Given the description of an element on the screen output the (x, y) to click on. 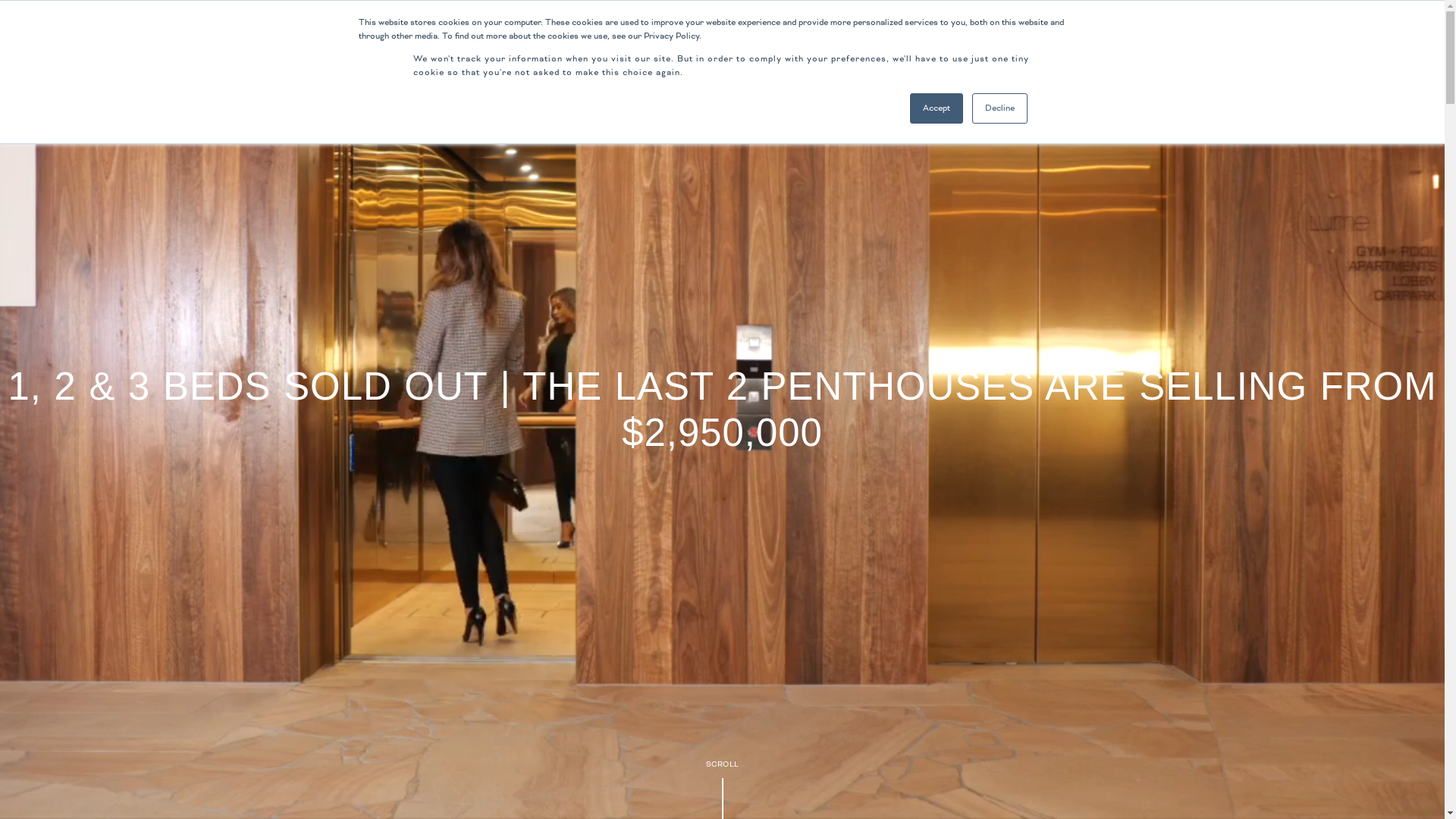
ENQUIRE Element type: text (1259, 42)
Accept Element type: text (936, 108)
SCROLL Element type: text (722, 764)
Decline Element type: text (999, 108)
